Given the description of an element on the screen output the (x, y) to click on. 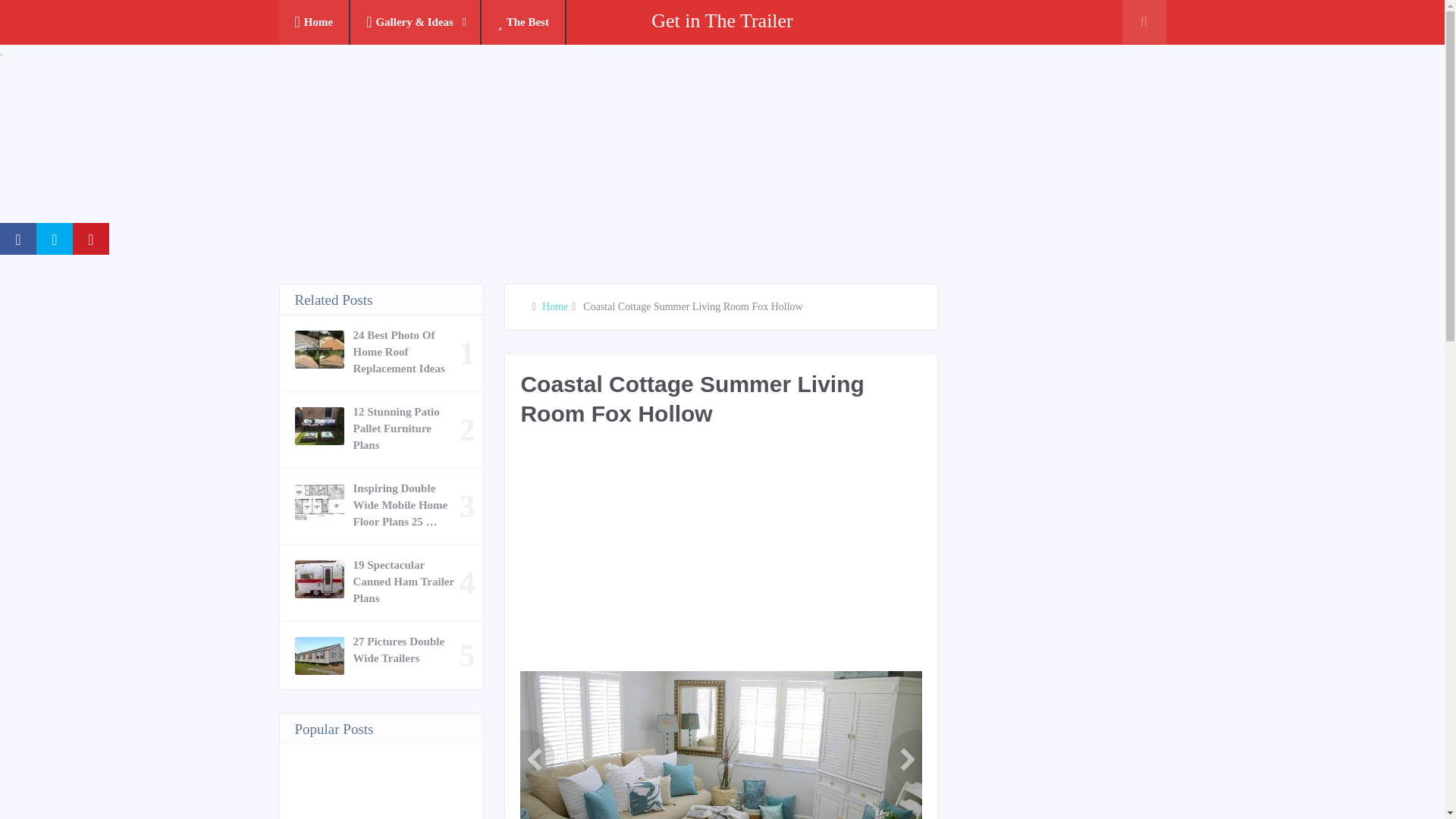
12 Stunning Patio Pallet Furniture Plans (406, 428)
Advertisement (795, 557)
19 Spectacular Canned Ham Trailer Plans (406, 581)
Home (554, 306)
The Best (523, 22)
Inspiring Double Wide Mobile Home Floor Plans 25 Photo (406, 504)
Get in The Trailer (721, 20)
Home (314, 22)
24 Best Photo Of Home Roof Replacement Ideas (406, 351)
